Given the description of an element on the screen output the (x, y) to click on. 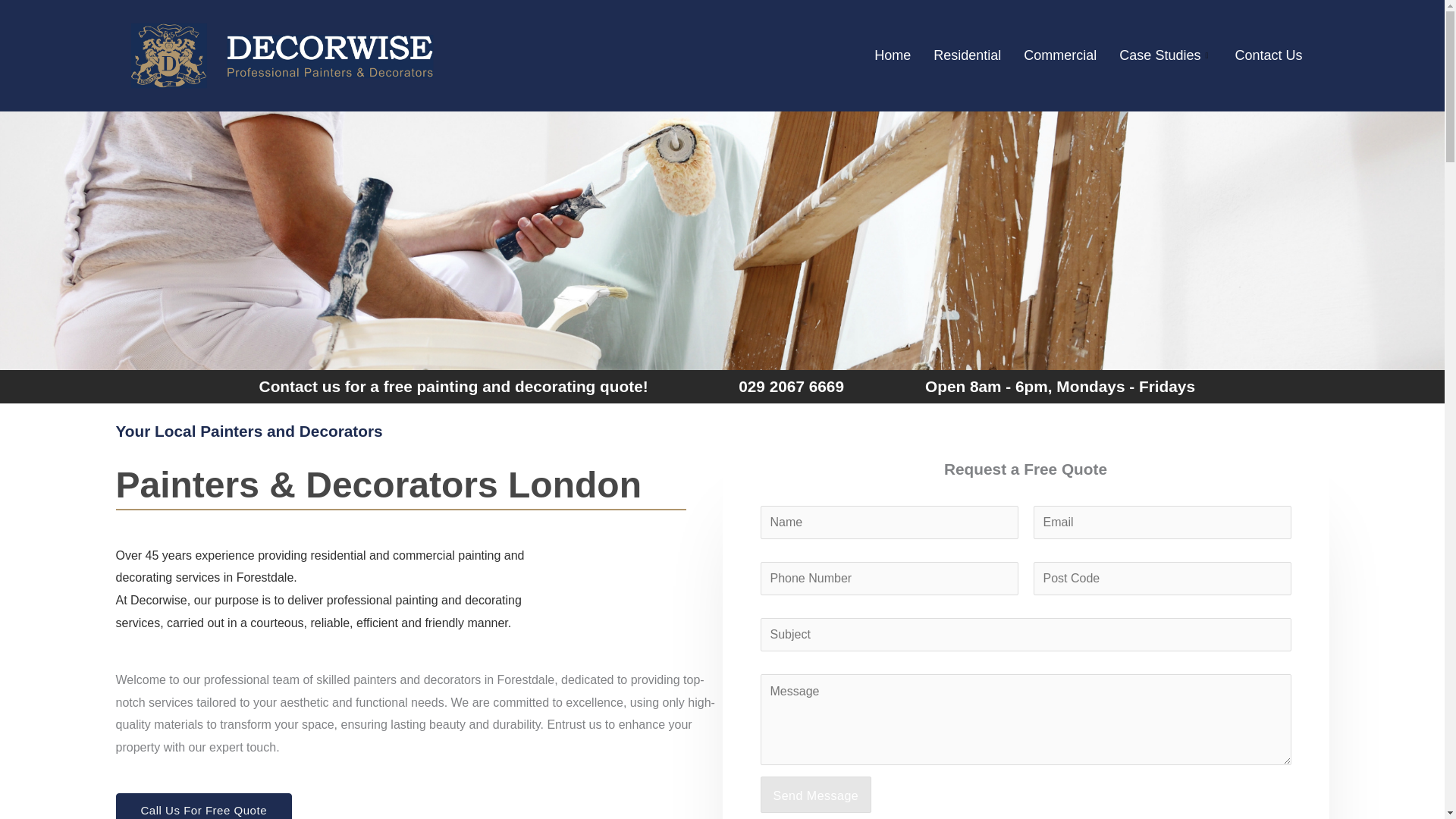
Send Message (815, 794)
Case Studies (1165, 55)
Call Us For Free Quote (203, 806)
Home (892, 55)
Contact Us (1268, 55)
029 2067 6669 (791, 385)
Residential (966, 55)
Commercial (1059, 55)
